Given the description of an element on the screen output the (x, y) to click on. 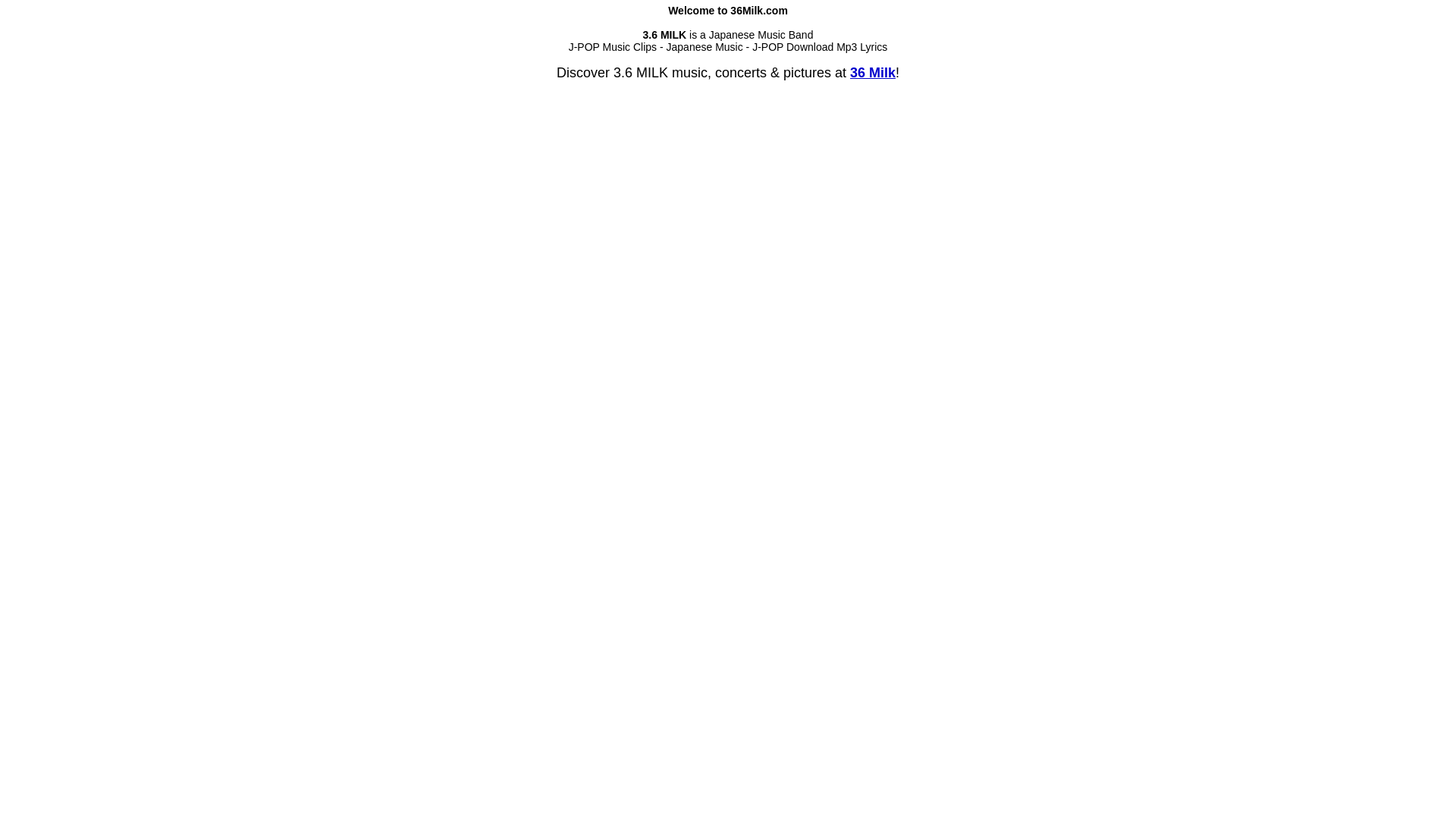
36 Milk Element type: text (872, 72)
